Given the description of an element on the screen output the (x, y) to click on. 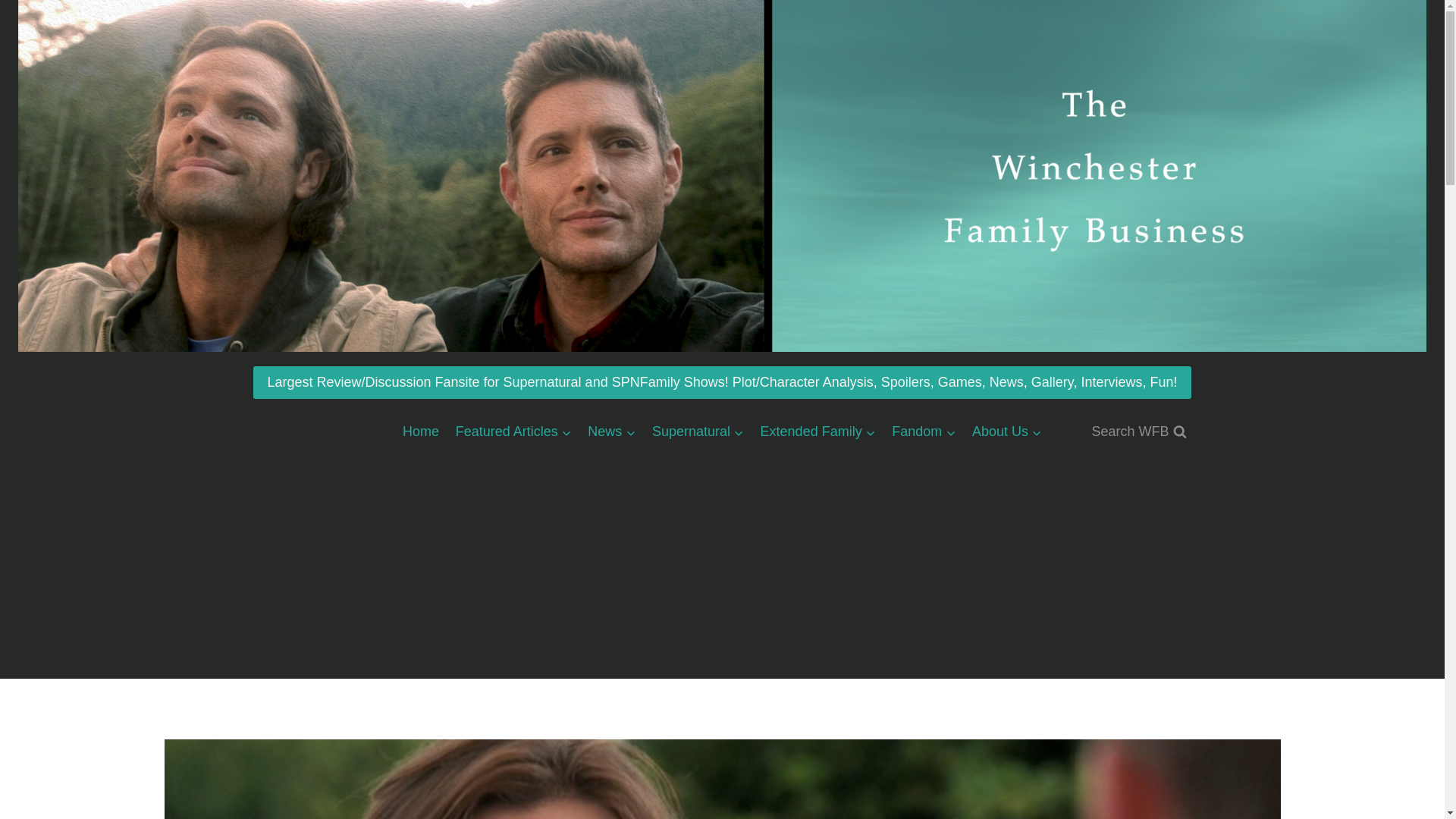
Featured Articles (512, 431)
Supernatural (697, 431)
News (612, 431)
Extended Family (817, 431)
About Us (1006, 431)
Fandom (923, 431)
Home (420, 431)
Search WFB (1138, 431)
